Given the description of an element on the screen output the (x, y) to click on. 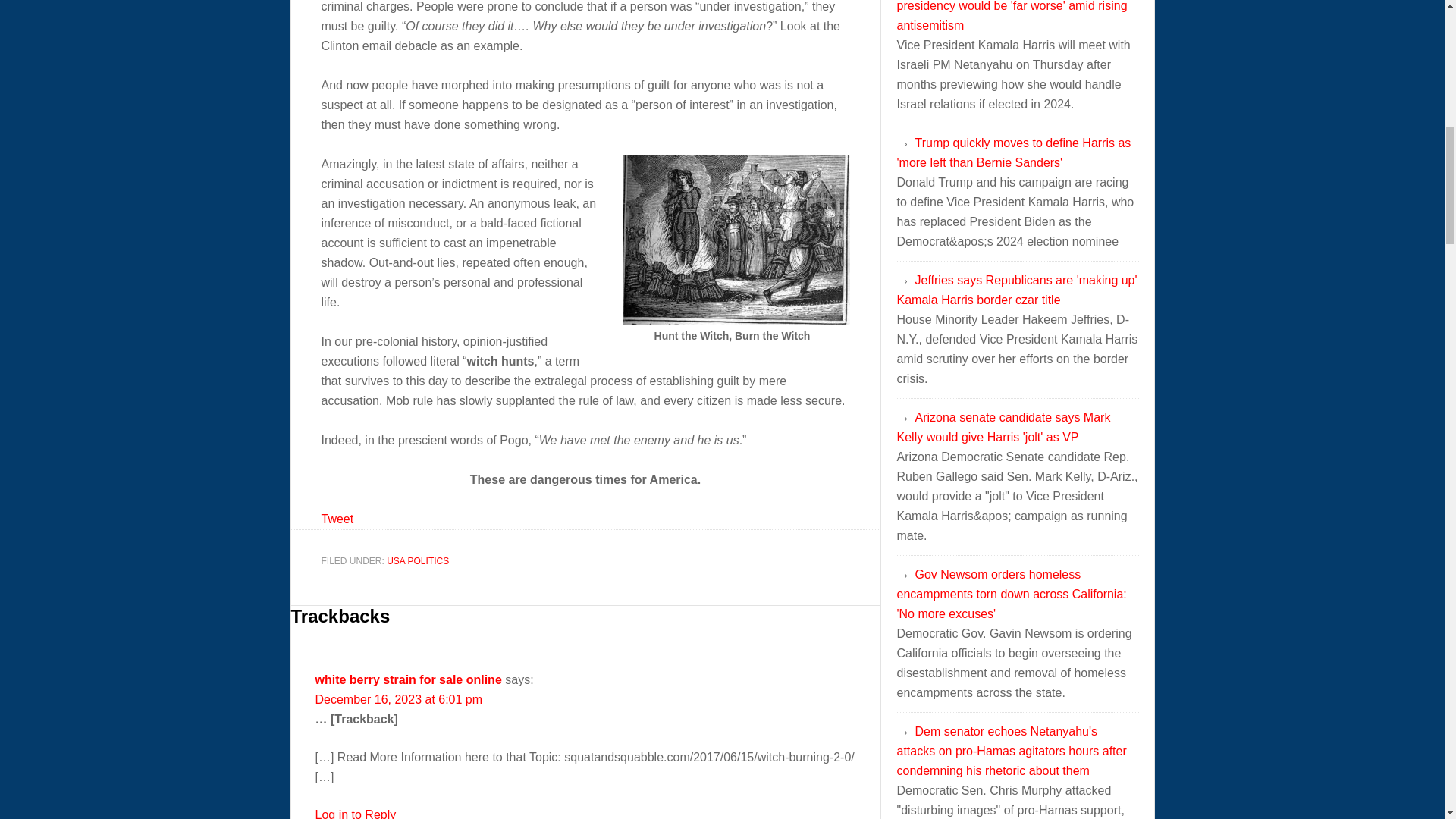
Log in to Reply (355, 813)
December 16, 2023 at 6:01 pm (399, 698)
Tweet (337, 518)
USA POLITICS (417, 560)
white berry strain for sale online (408, 679)
